Given the description of an element on the screen output the (x, y) to click on. 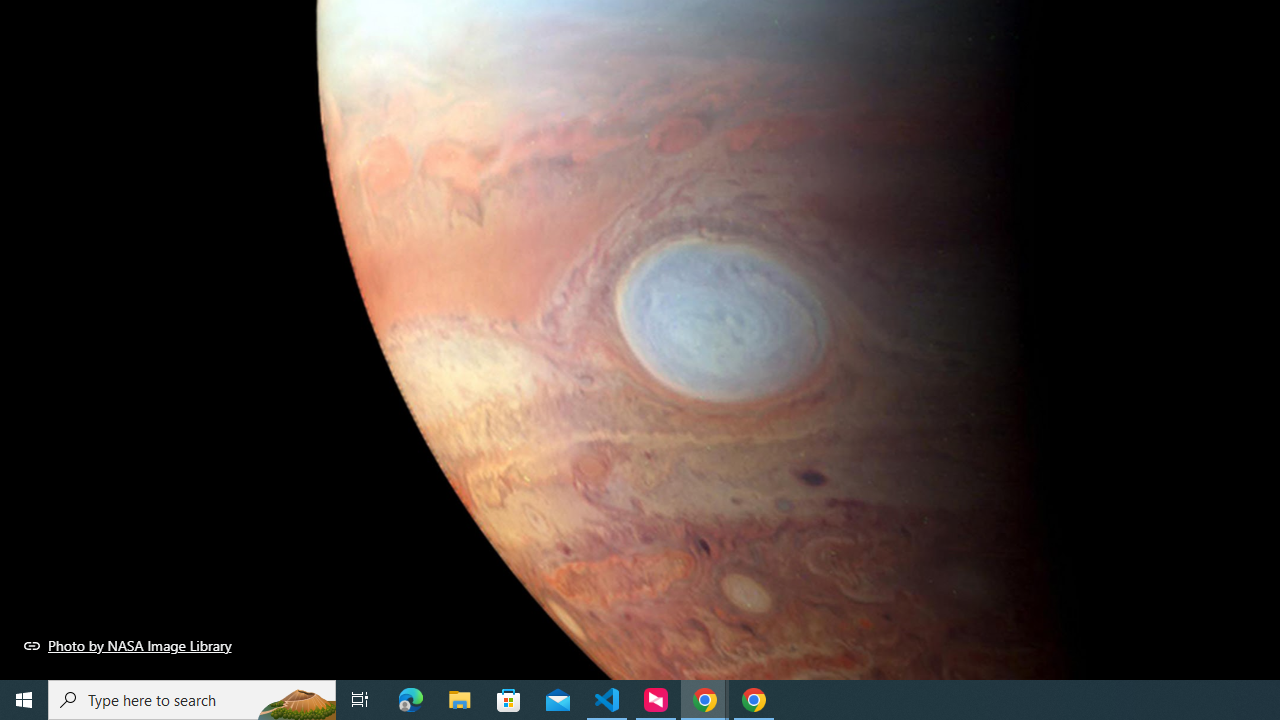
Photo by NASA Image Library (127, 645)
